Given the description of an element on the screen output the (x, y) to click on. 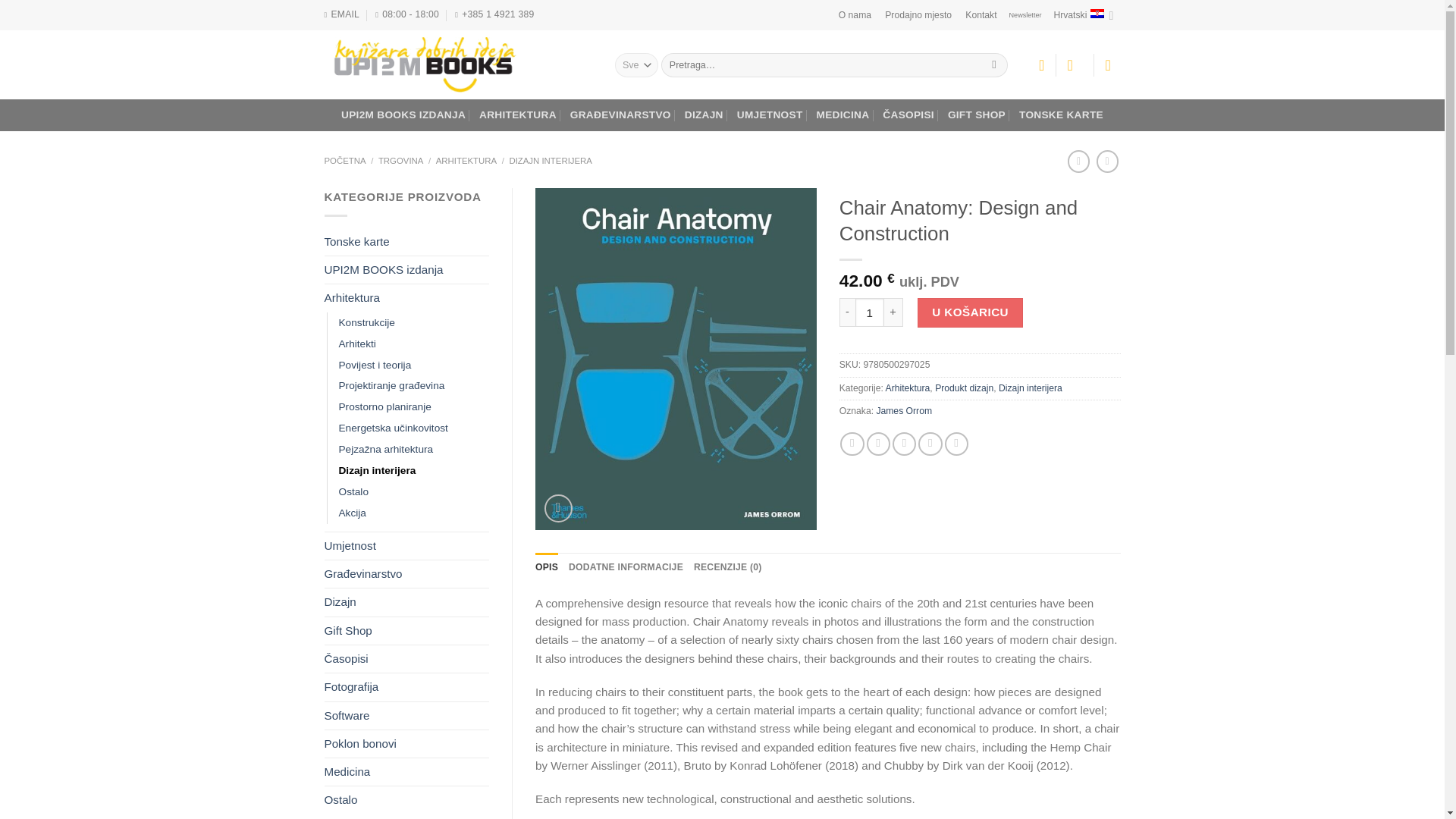
08:00 - 18:00  (407, 14)
Hrvatski (1082, 15)
EMAIL (341, 14)
ARHITEKTURA (517, 115)
Newsletter (1025, 15)
O nama (854, 15)
Kontakt (980, 15)
08:00 - 18:00 (407, 14)
Prodajno mjesto (917, 15)
UPI2M BOOKS IZDANJA (402, 115)
